Given the description of an element on the screen output the (x, y) to click on. 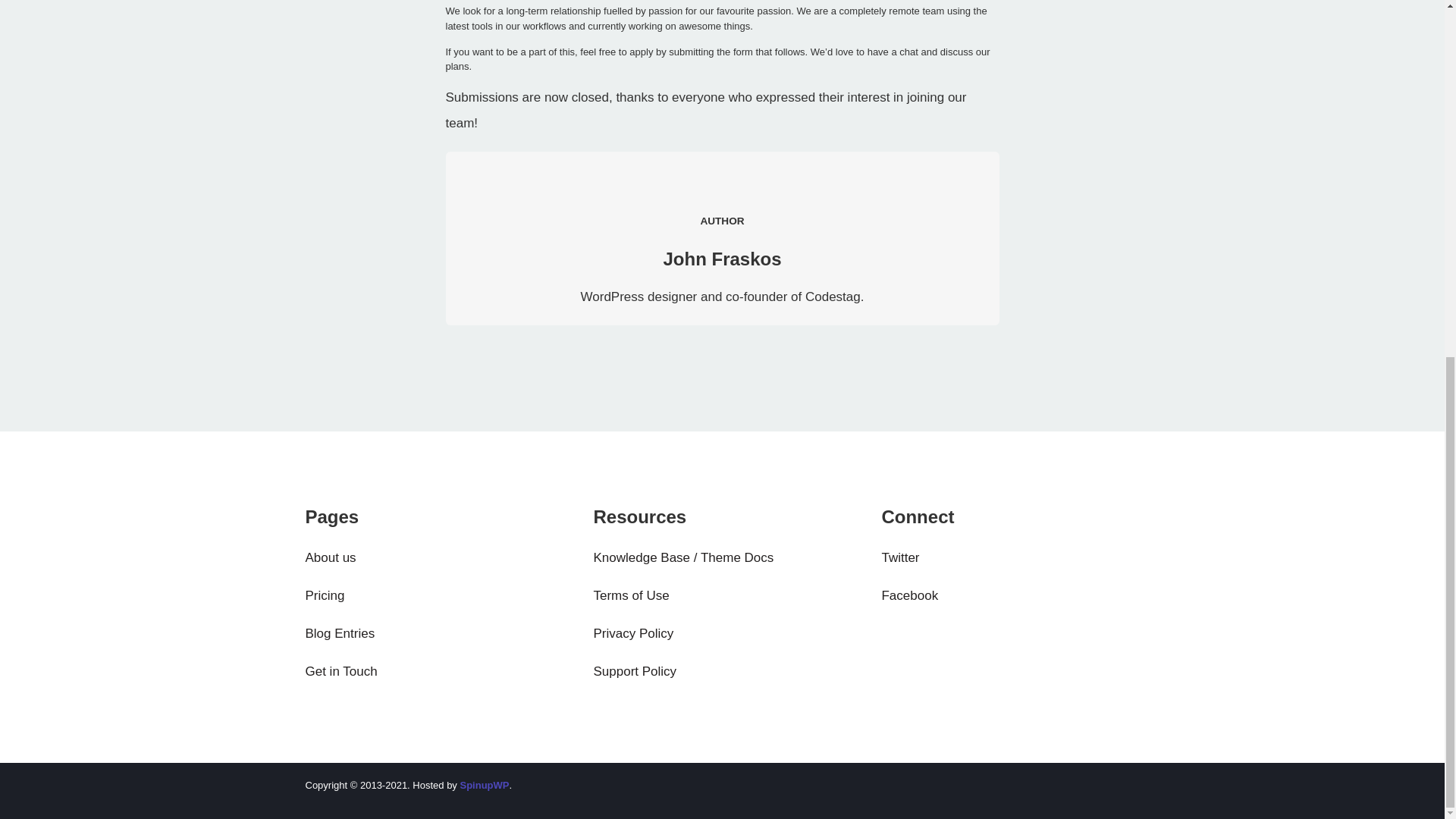
Terms of Use (721, 595)
Privacy Policy (721, 634)
Pricing (433, 595)
SpinupWP (484, 785)
Blog Entries (433, 634)
Support Policy (721, 671)
Twitter (1009, 557)
Facebook (1009, 595)
About us (433, 557)
Get in Touch (433, 671)
